Given the description of an element on the screen output the (x, y) to click on. 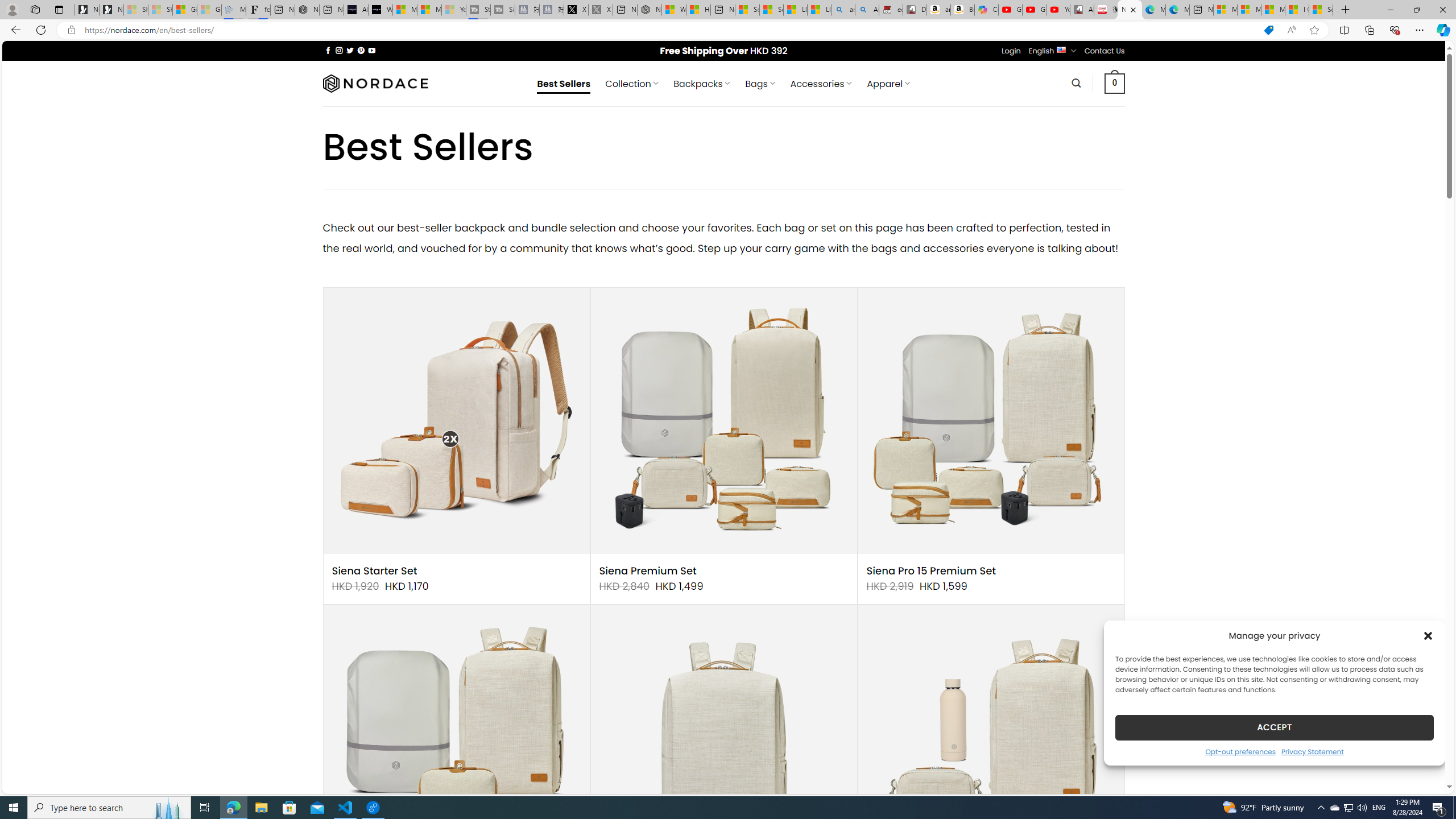
Class: cmplz-close (1428, 635)
  Best Sellers (564, 83)
Gloom - YouTube (1034, 9)
Outlook (1442, 98)
Follow on Twitter (349, 49)
